Given the description of an element on the screen output the (x, y) to click on. 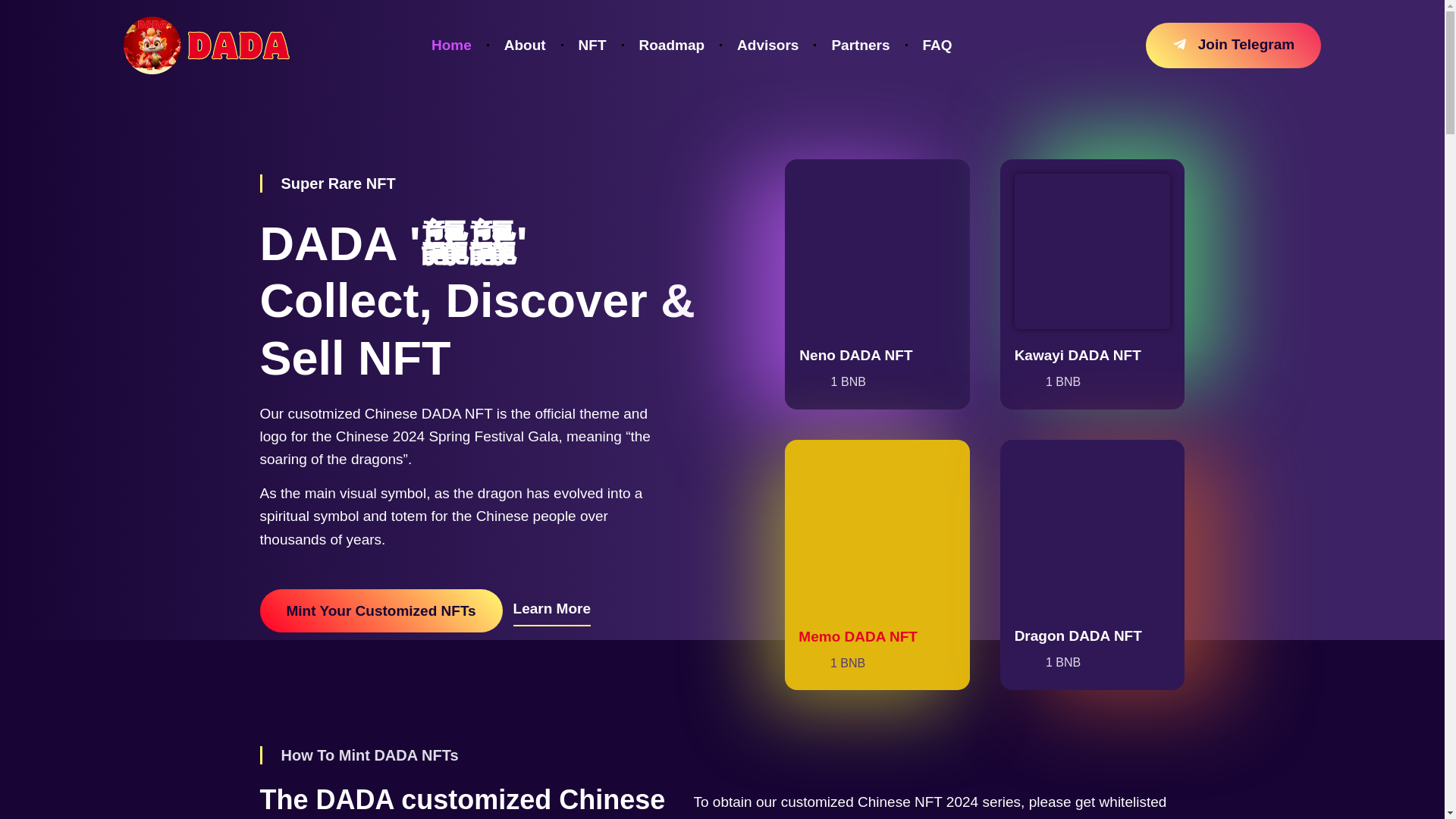
Learn More (552, 610)
Home (451, 44)
Mint Your Customized NFTs (380, 610)
Advisors (767, 44)
Partners (859, 44)
FAQ (937, 44)
NFT (592, 44)
Join Telegram (1232, 44)
Roadmap (672, 44)
About (524, 44)
